Given the description of an element on the screen output the (x, y) to click on. 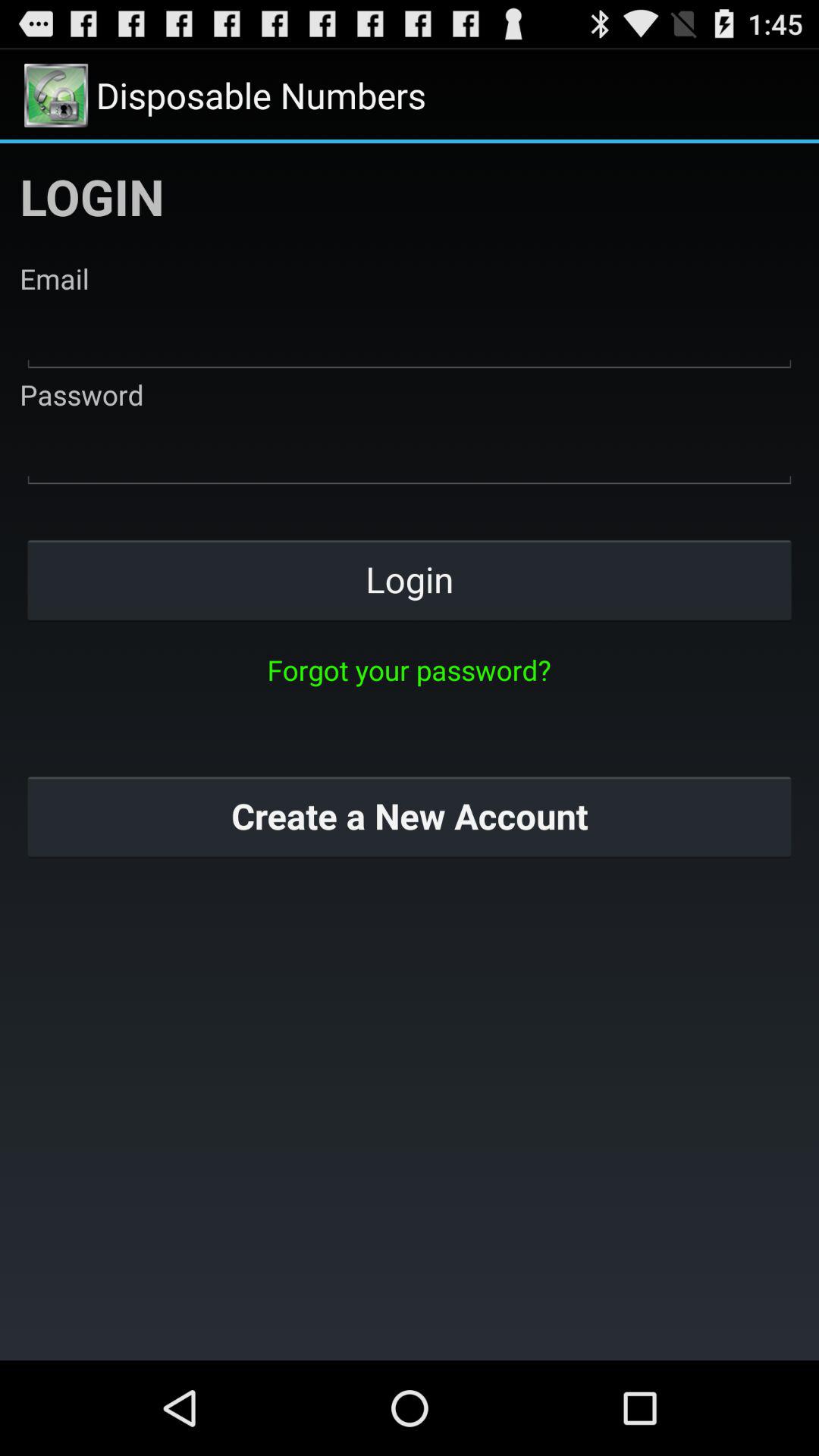
tap the button below the login button (409, 669)
